Given the description of an element on the screen output the (x, y) to click on. 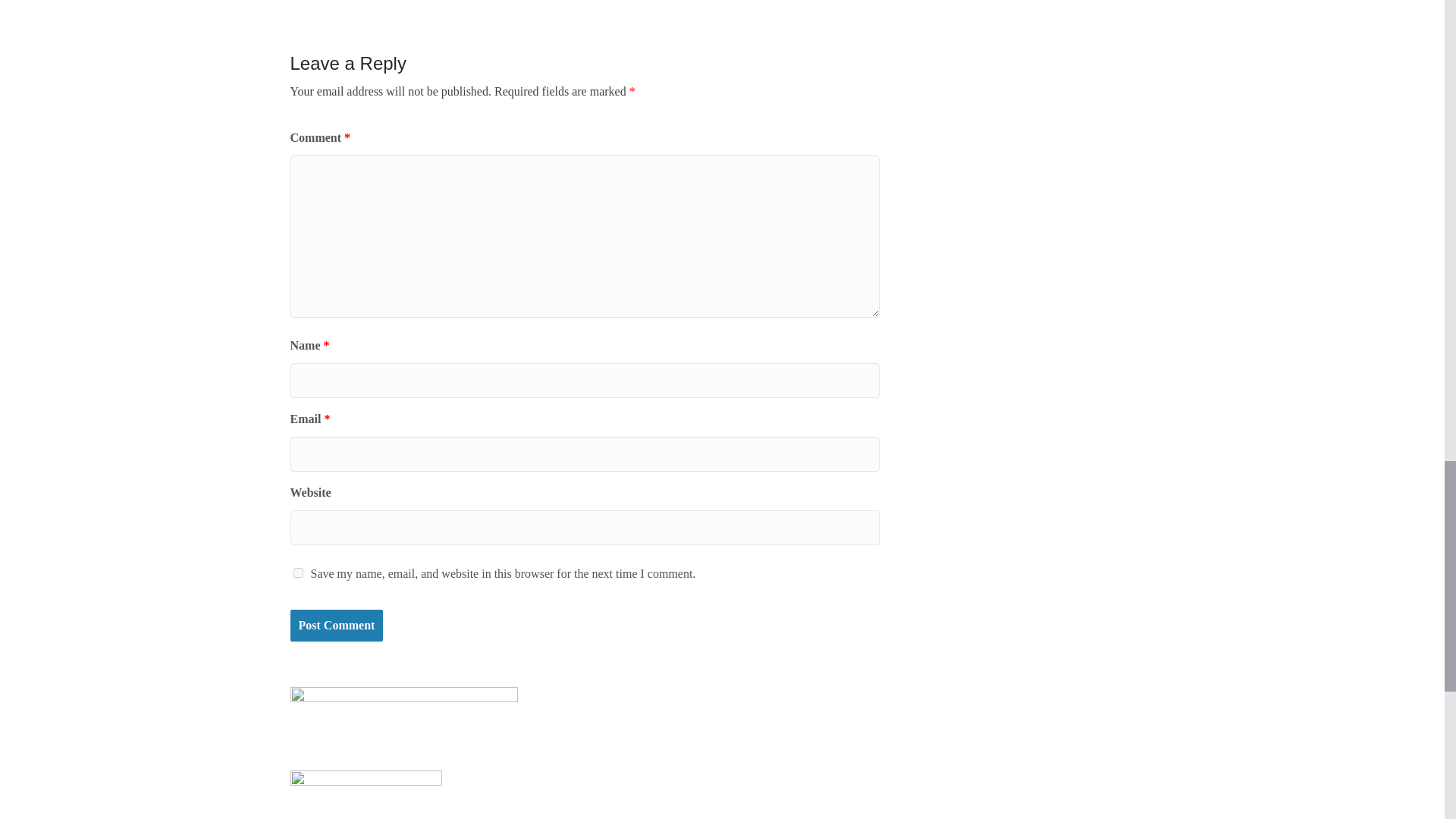
Post Comment (335, 625)
Post Comment (335, 625)
yes (297, 573)
Latest petrol, diesel forecast for April 2024 (759, 2)
The request could not be satisfied (385, 2)
